Given the description of an element on the screen output the (x, y) to click on. 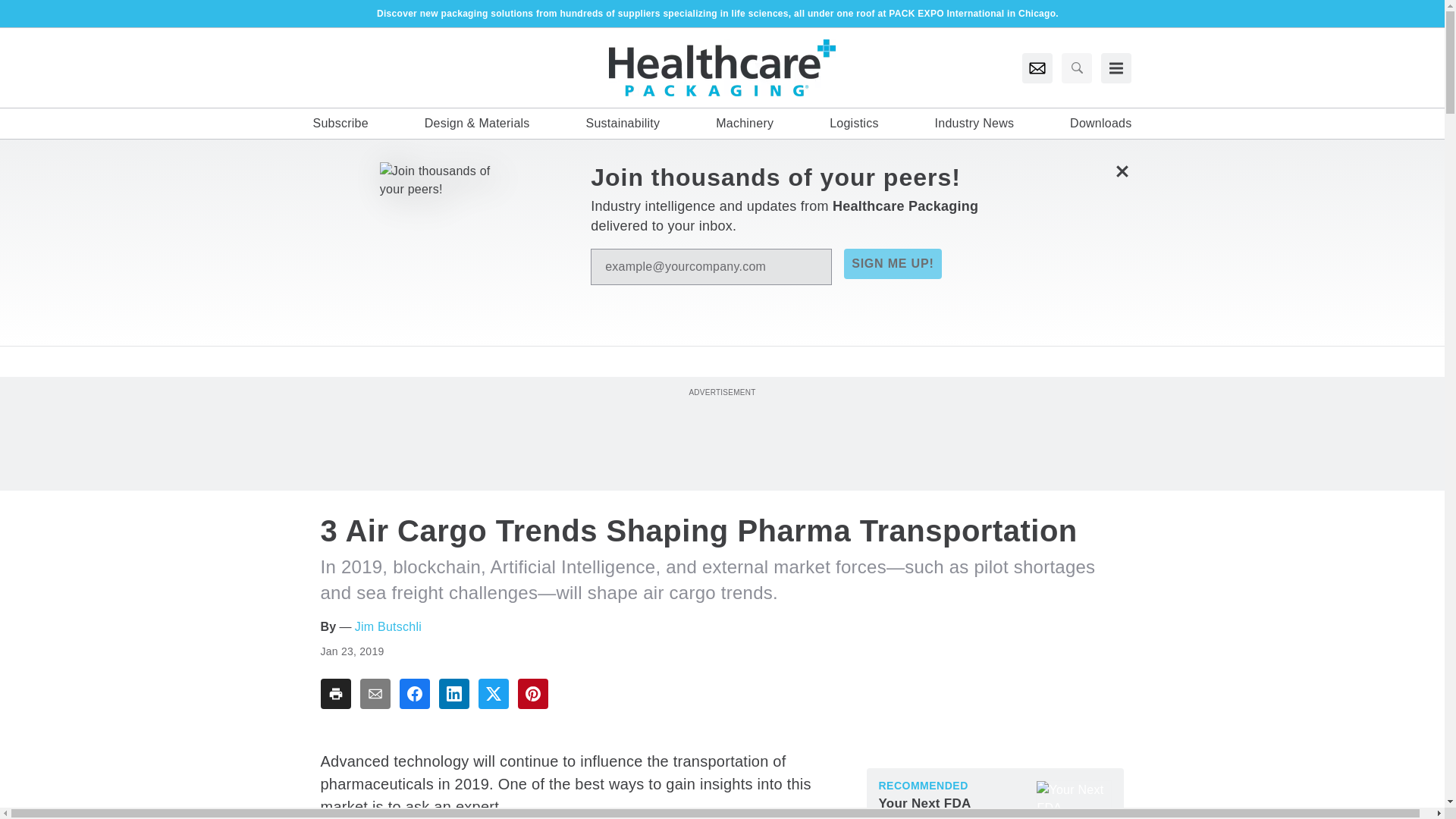
Share To facebook (413, 693)
Machinery (744, 123)
SIGN ME UP! (892, 263)
Recommended (922, 785)
Share To linkedin (453, 693)
Share To email (374, 693)
Subscribe (340, 123)
Downloads (1100, 123)
Share To twitter (492, 693)
